Given the description of an element on the screen output the (x, y) to click on. 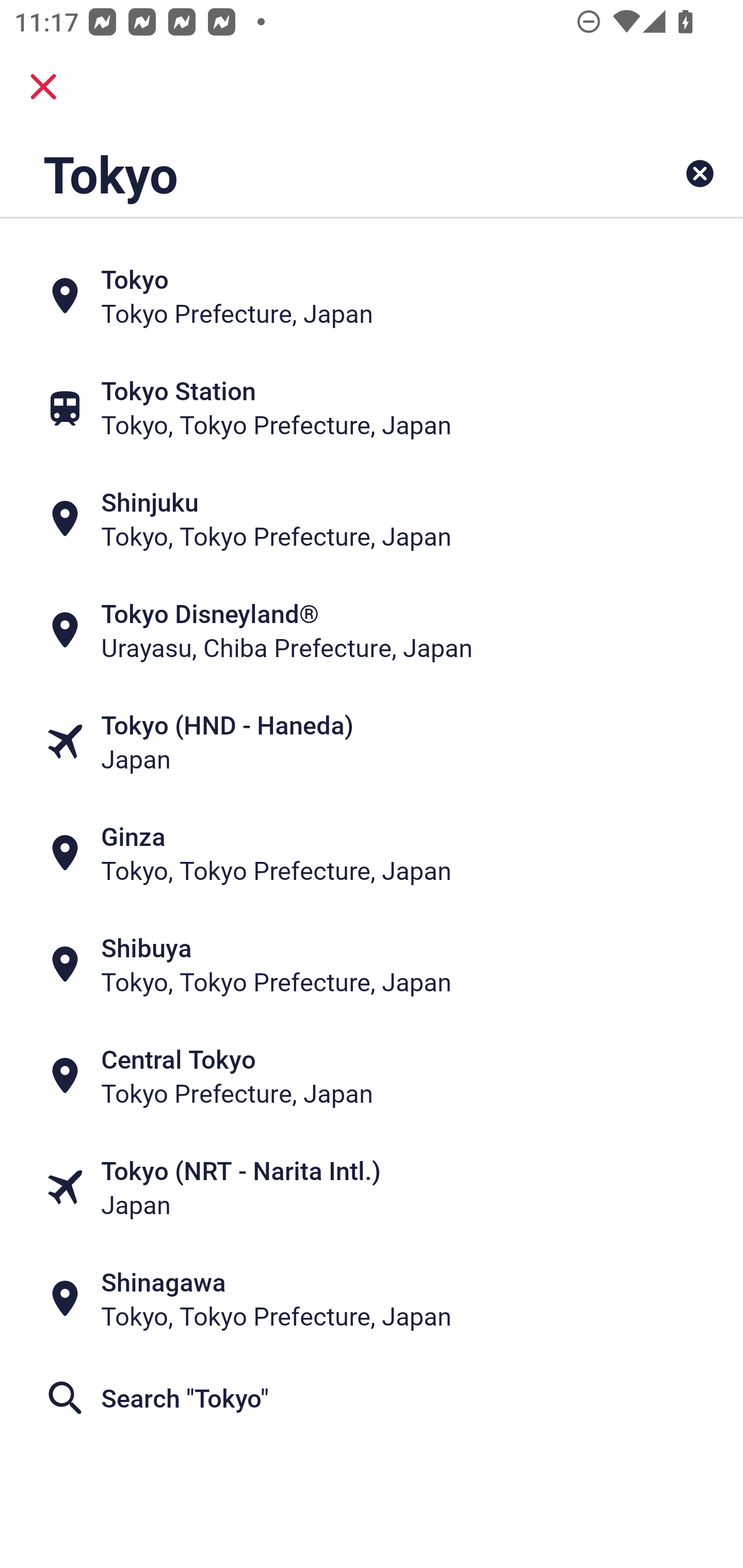
close. (43, 86)
Clear (699, 173)
Tokyo (306, 173)
Tokyo Tokyo Prefecture, Japan (371, 295)
Tokyo Station Tokyo, Tokyo Prefecture, Japan (371, 406)
Shinjuku Tokyo, Tokyo Prefecture, Japan (371, 517)
Tokyo Disneyland® Urayasu, Chiba Prefecture, Japan (371, 629)
Tokyo (HND - Haneda) Japan (371, 742)
Ginza Tokyo, Tokyo Prefecture, Japan (371, 853)
Shibuya Tokyo, Tokyo Prefecture, Japan (371, 964)
Central Tokyo Tokyo Prefecture, Japan (371, 1076)
Tokyo (NRT - Narita Intl.) Japan (371, 1187)
Shinagawa Tokyo, Tokyo Prefecture, Japan (371, 1298)
Search "Tokyo" (371, 1397)
